Given the description of an element on the screen output the (x, y) to click on. 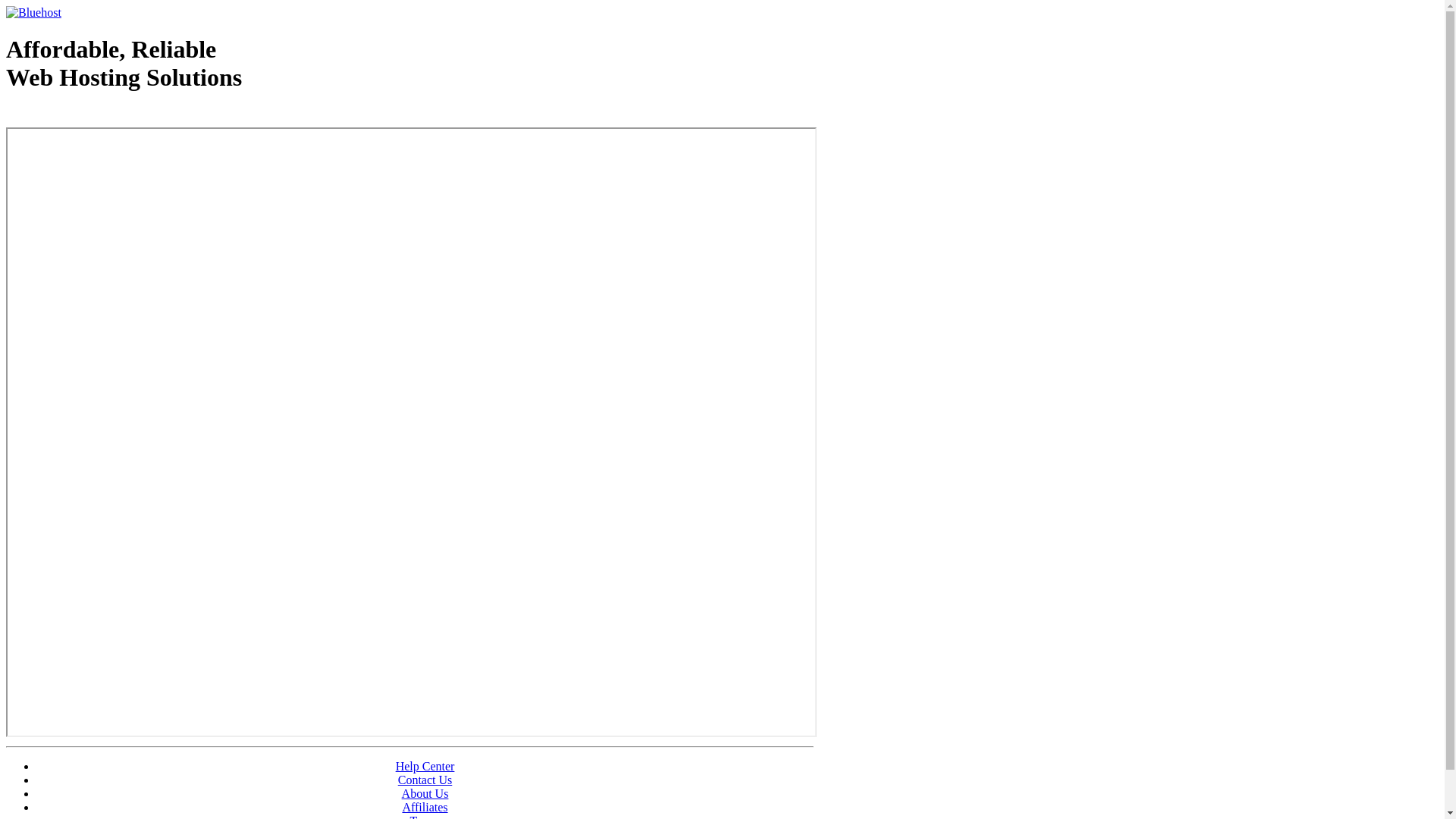
Help Center Element type: text (425, 765)
Web Hosting - courtesy of www.bluehost.com Element type: text (94, 115)
Affiliates Element type: text (424, 806)
Contact Us Element type: text (425, 779)
About Us Element type: text (424, 793)
